Given the description of an element on the screen output the (x, y) to click on. 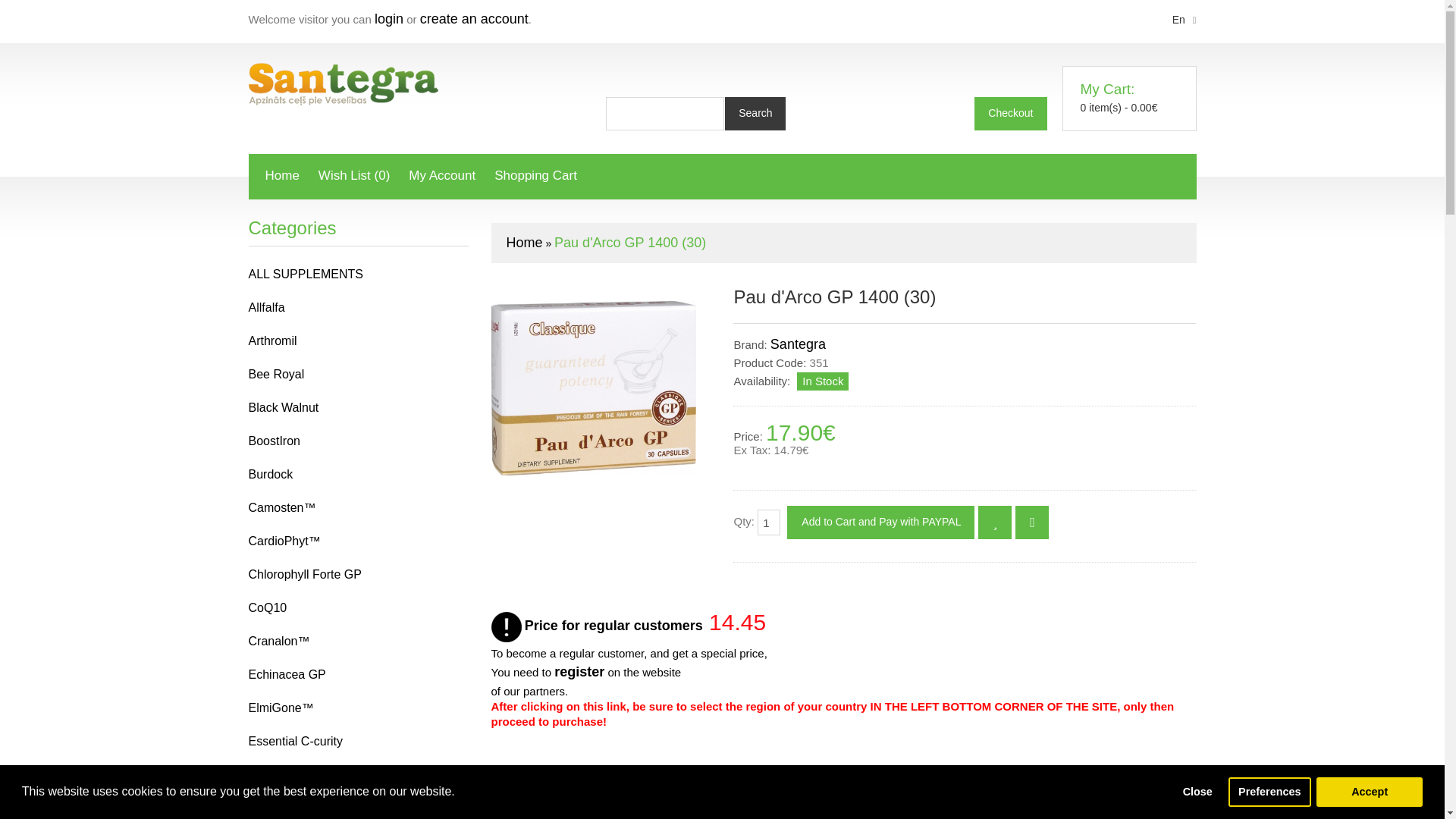
Checkout (1010, 113)
Preferences (1269, 791)
login (388, 18)
Home (282, 176)
create an account (474, 18)
Santegra in Europe (343, 84)
Accept (1369, 791)
Close (1197, 791)
